Given the description of an element on the screen output the (x, y) to click on. 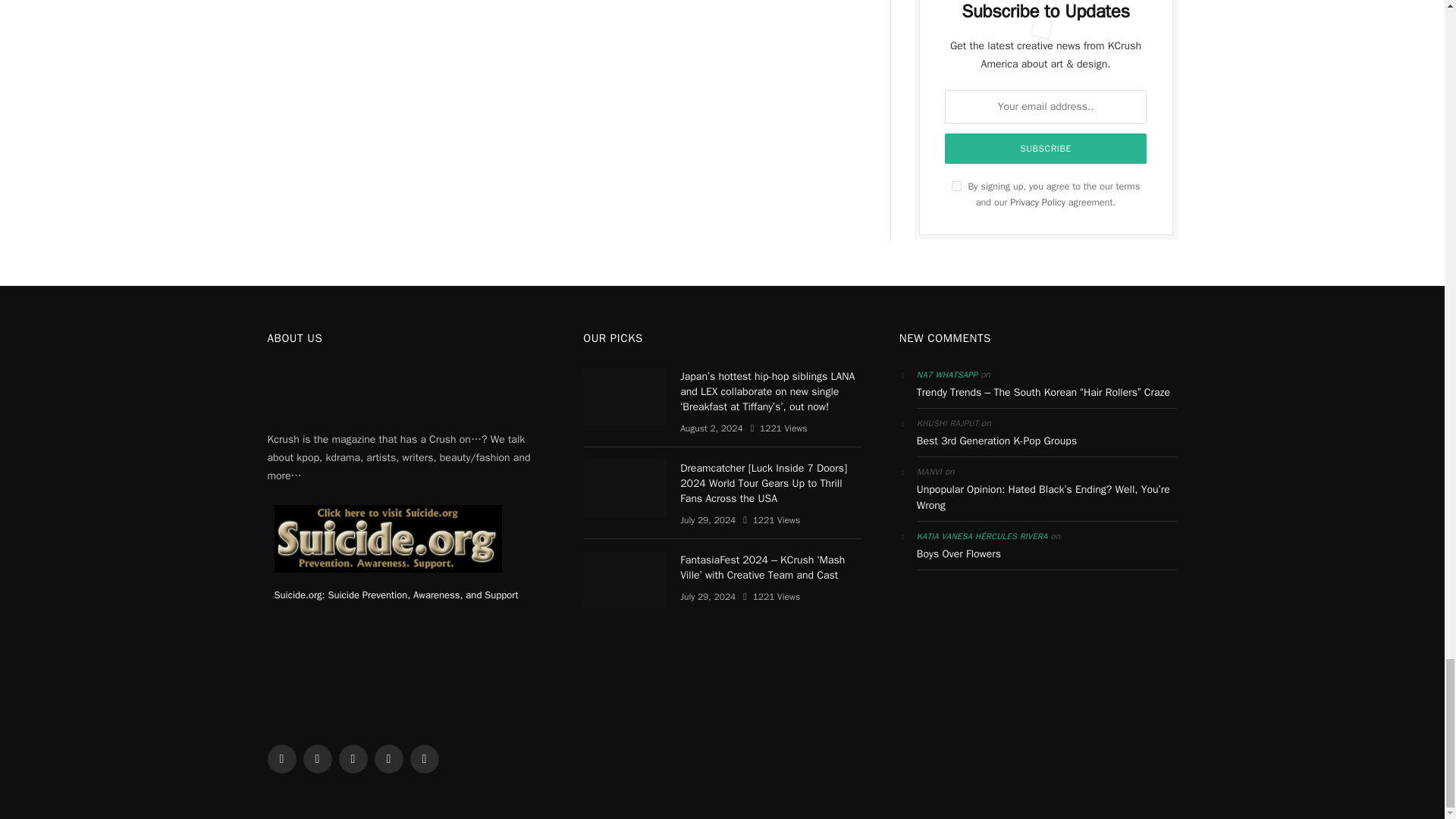
on (956, 185)
Subscribe (1045, 148)
